Given the description of an element on the screen output the (x, y) to click on. 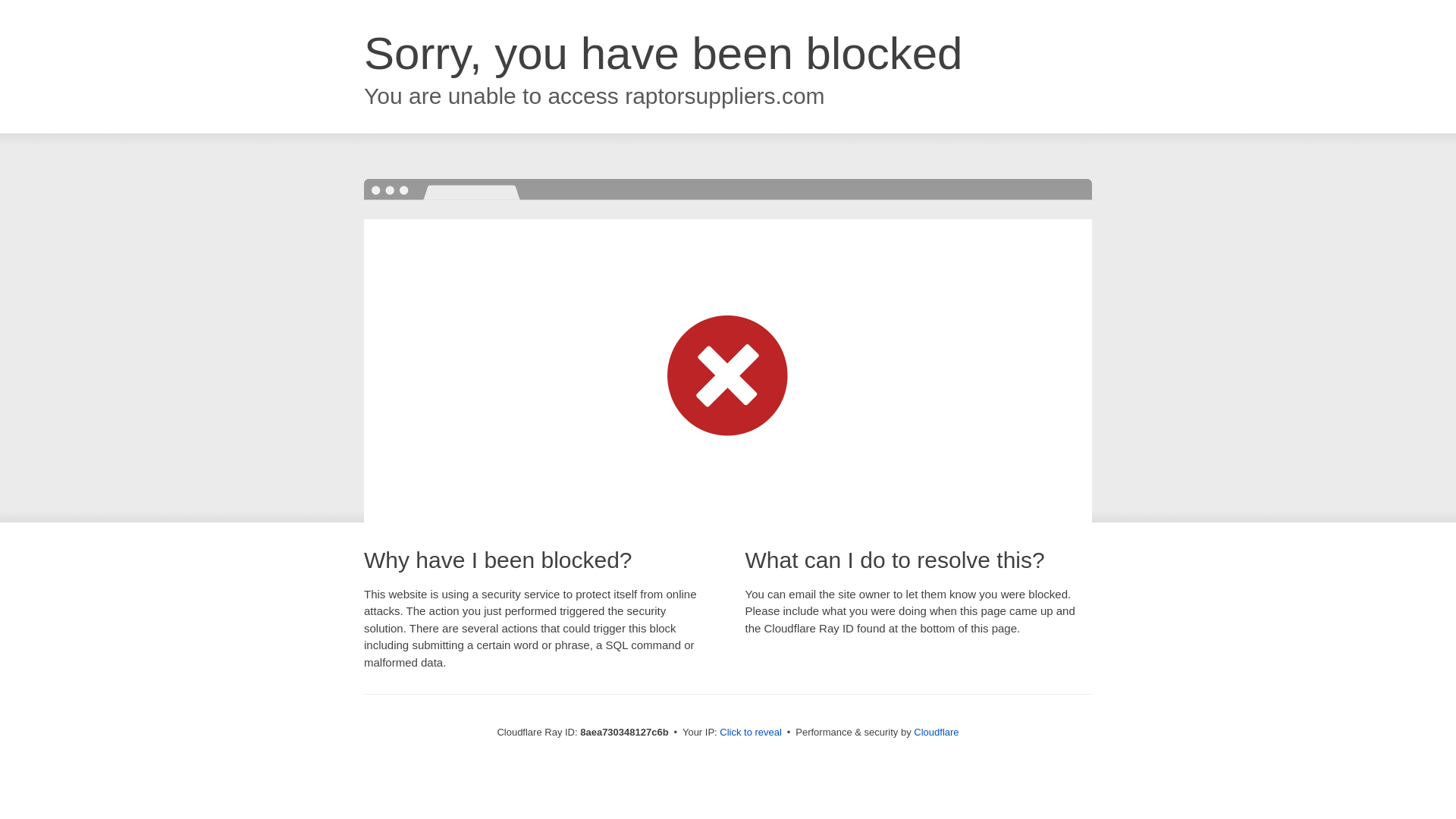
Cloudflare (936, 731)
Click to reveal (750, 732)
